Given the description of an element on the screen output the (x, y) to click on. 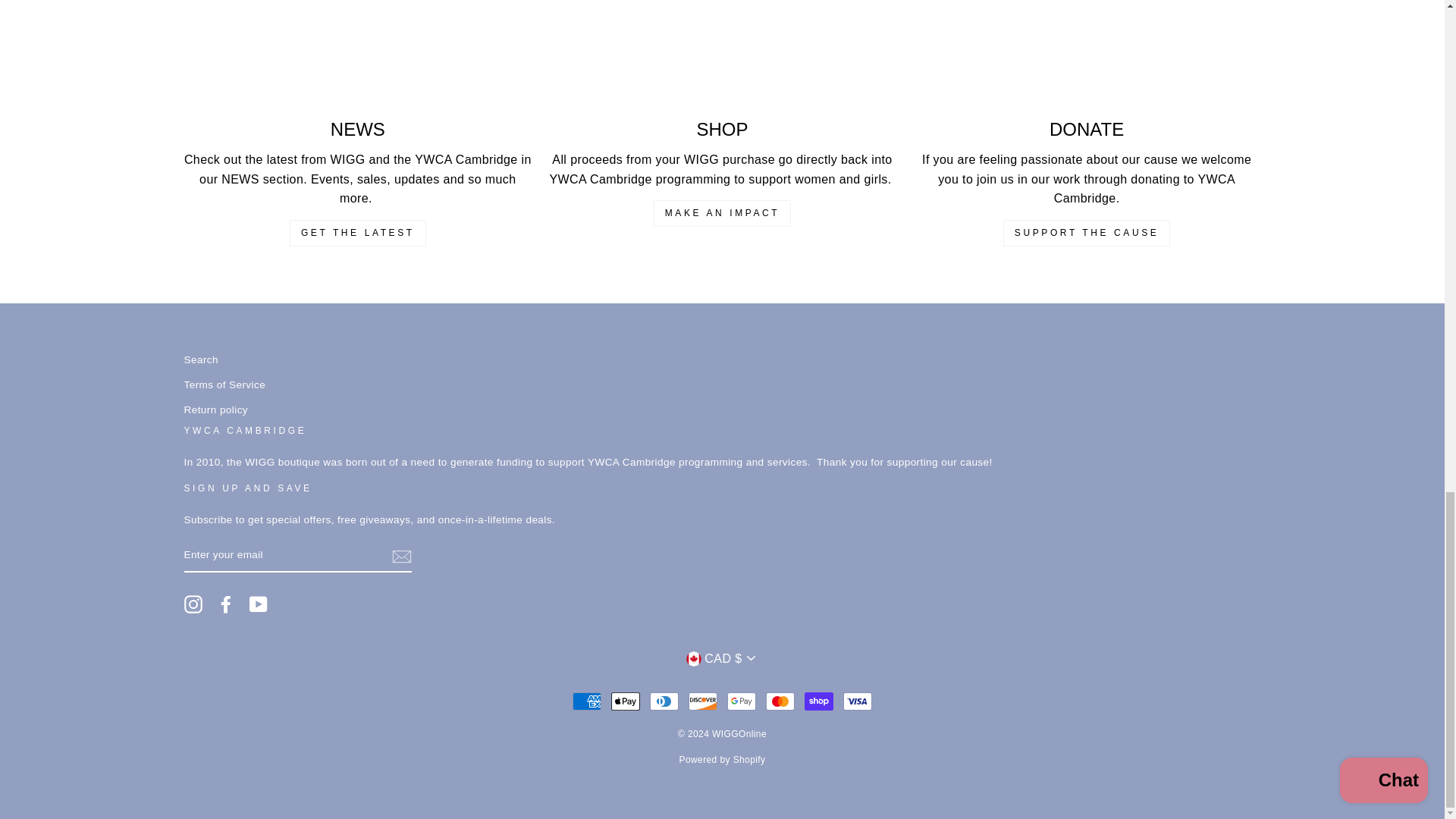
Diners Club (663, 701)
Apple Pay (625, 701)
WIGGOnline on YouTube (257, 604)
WIGGOnline on Facebook (225, 604)
Discover (702, 701)
American Express (586, 701)
WIGGOnline on Instagram (192, 604)
